Given the description of an element on the screen output the (x, y) to click on. 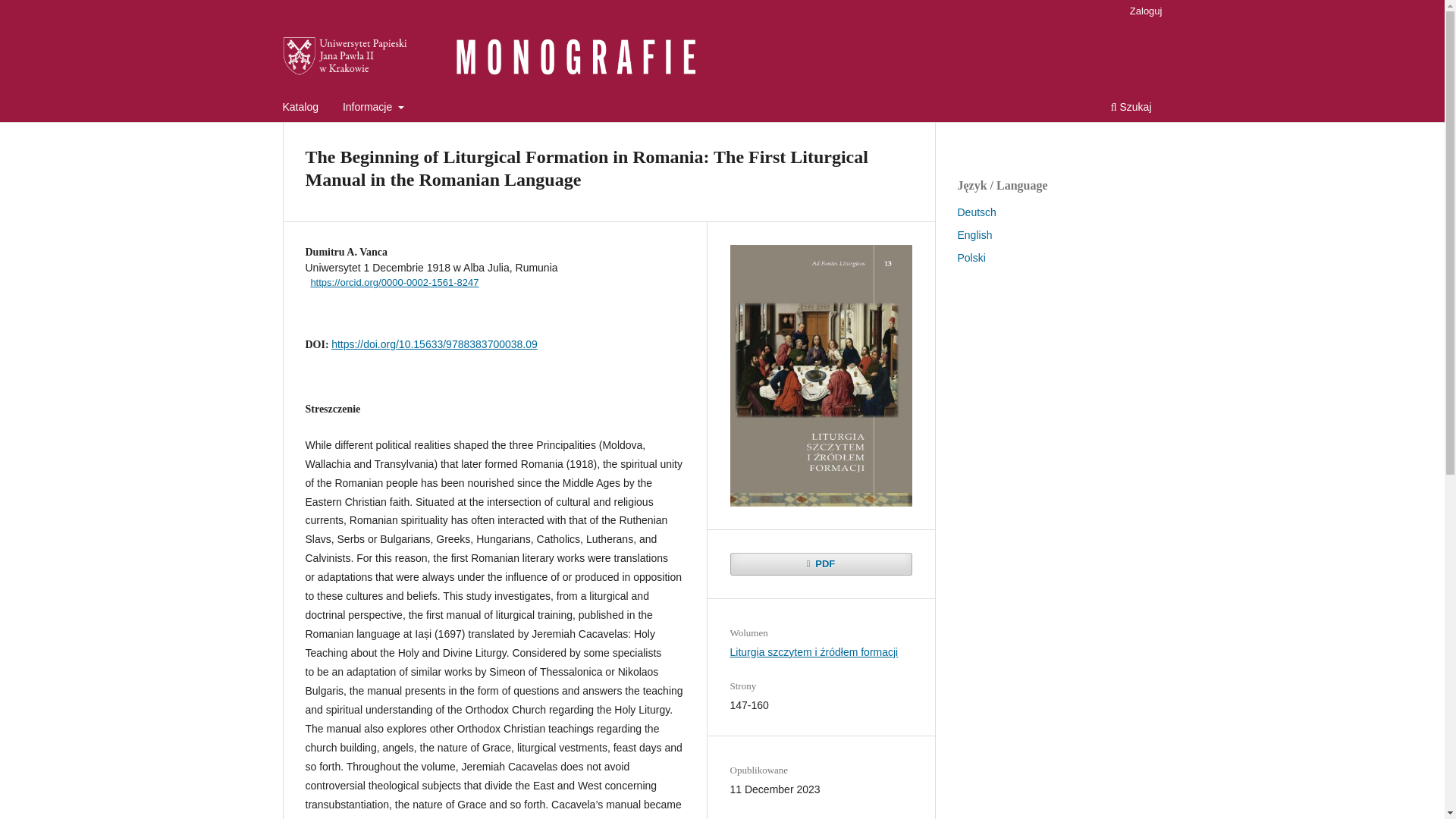
English (973, 234)
Szukaj (1131, 108)
PDF (820, 563)
Polski (970, 257)
Katalog (300, 108)
Informacje (373, 108)
Deutsch (975, 212)
Zaloguj (1146, 11)
